Given the description of an element on the screen output the (x, y) to click on. 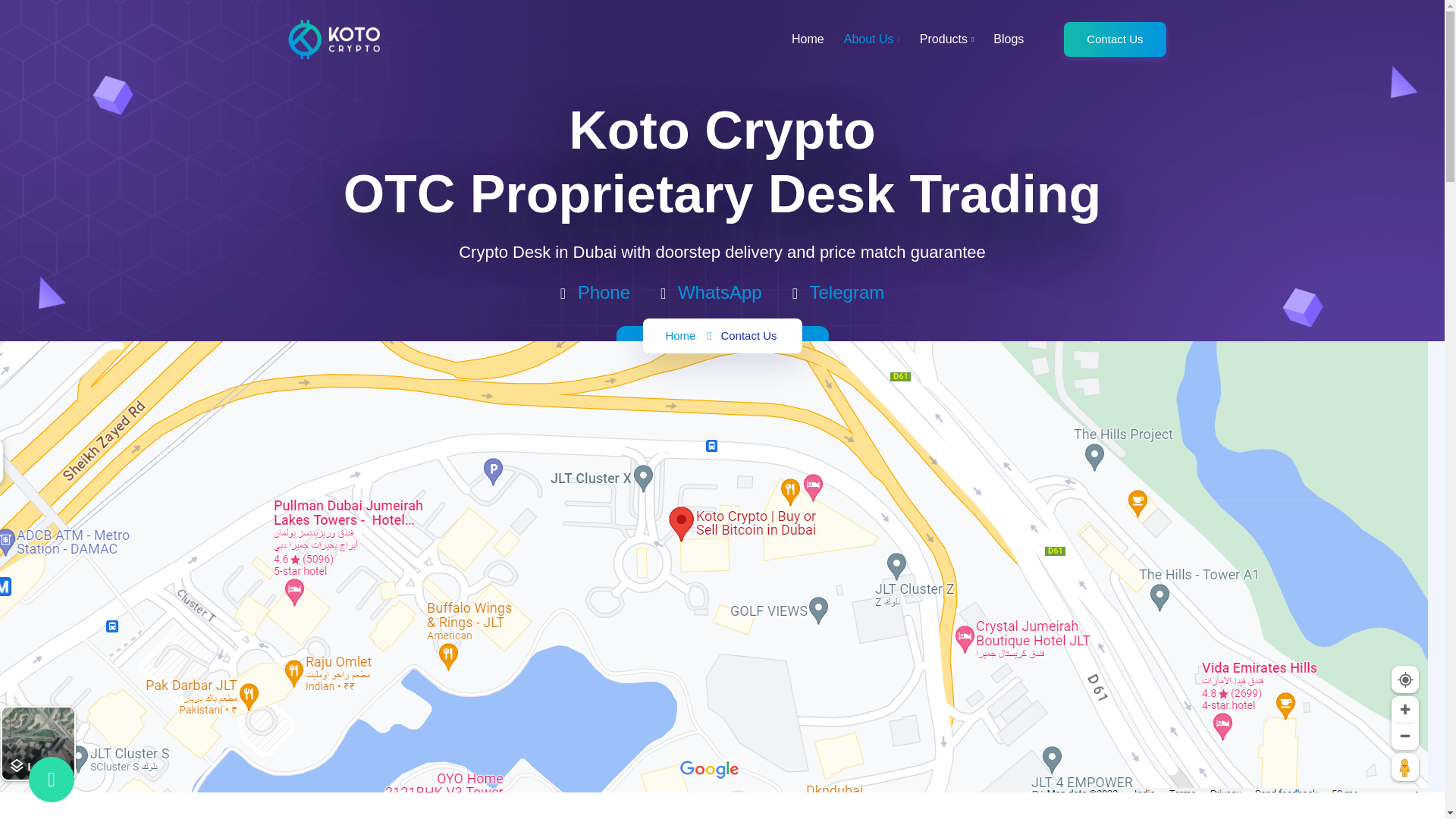
Telegram (838, 294)
Phone (595, 294)
Home (680, 335)
Contact Us (1115, 39)
WhatsApp (711, 294)
Products (947, 39)
About Us (872, 39)
